Given the description of an element on the screen output the (x, y) to click on. 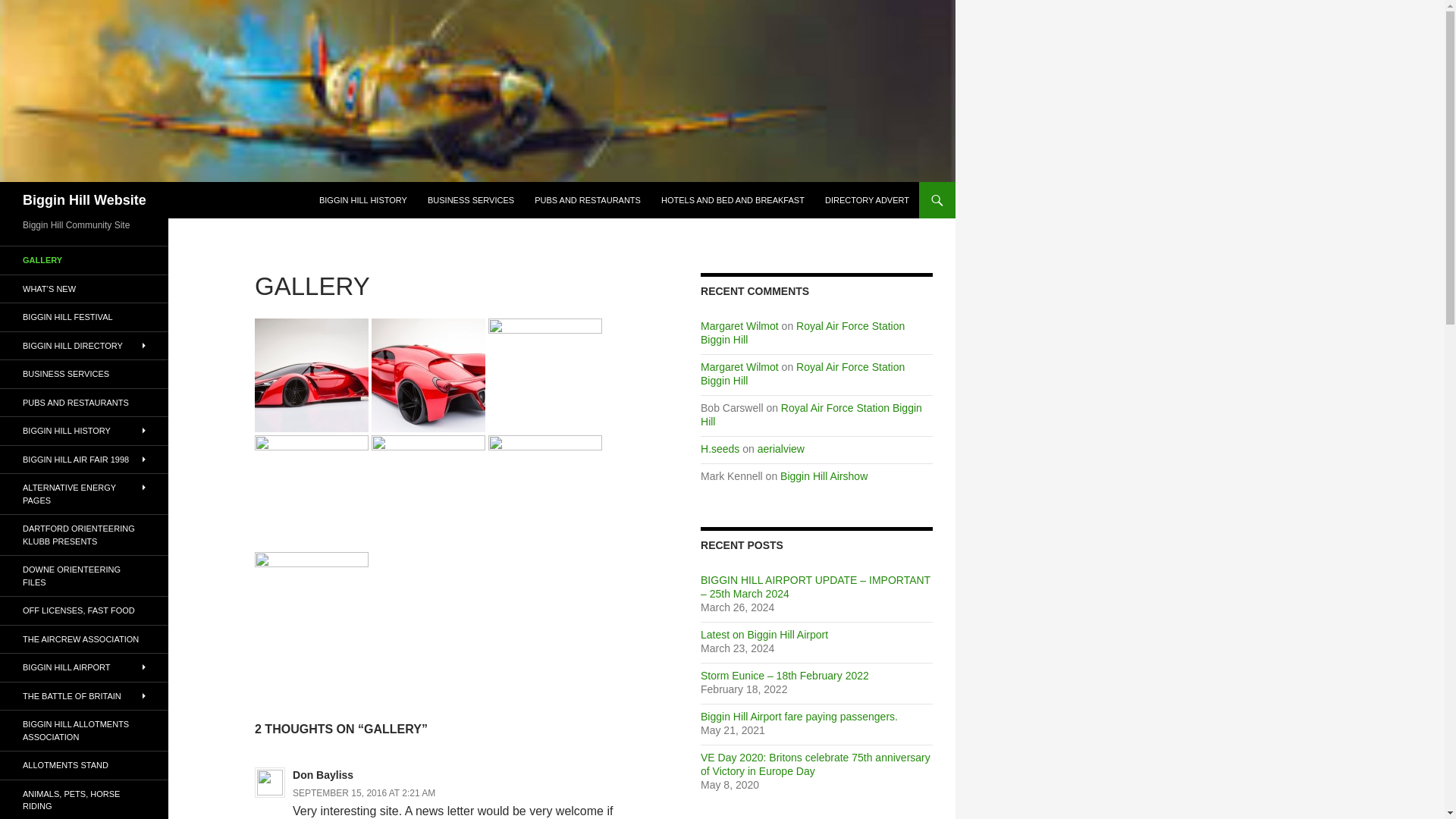
SEPTEMBER 15, 2016 AT 2:21 AM (363, 792)
aerialview (781, 449)
Latest on Biggin Hill Airport (764, 634)
PUBS AND RESTAURANTS (587, 199)
HOTELS AND BED AND BREAKFAST (732, 199)
Royal Air Force Station Biggin Hill (810, 414)
BIGGIN HILL HISTORY (363, 199)
Royal Air Force Station Biggin Hill (802, 332)
DIRECTORY ADVERT (866, 199)
Royal Air Force Station Biggin Hill (802, 373)
Biggin Hill Airshow (823, 476)
H.seeds (719, 449)
